Given the description of an element on the screen output the (x, y) to click on. 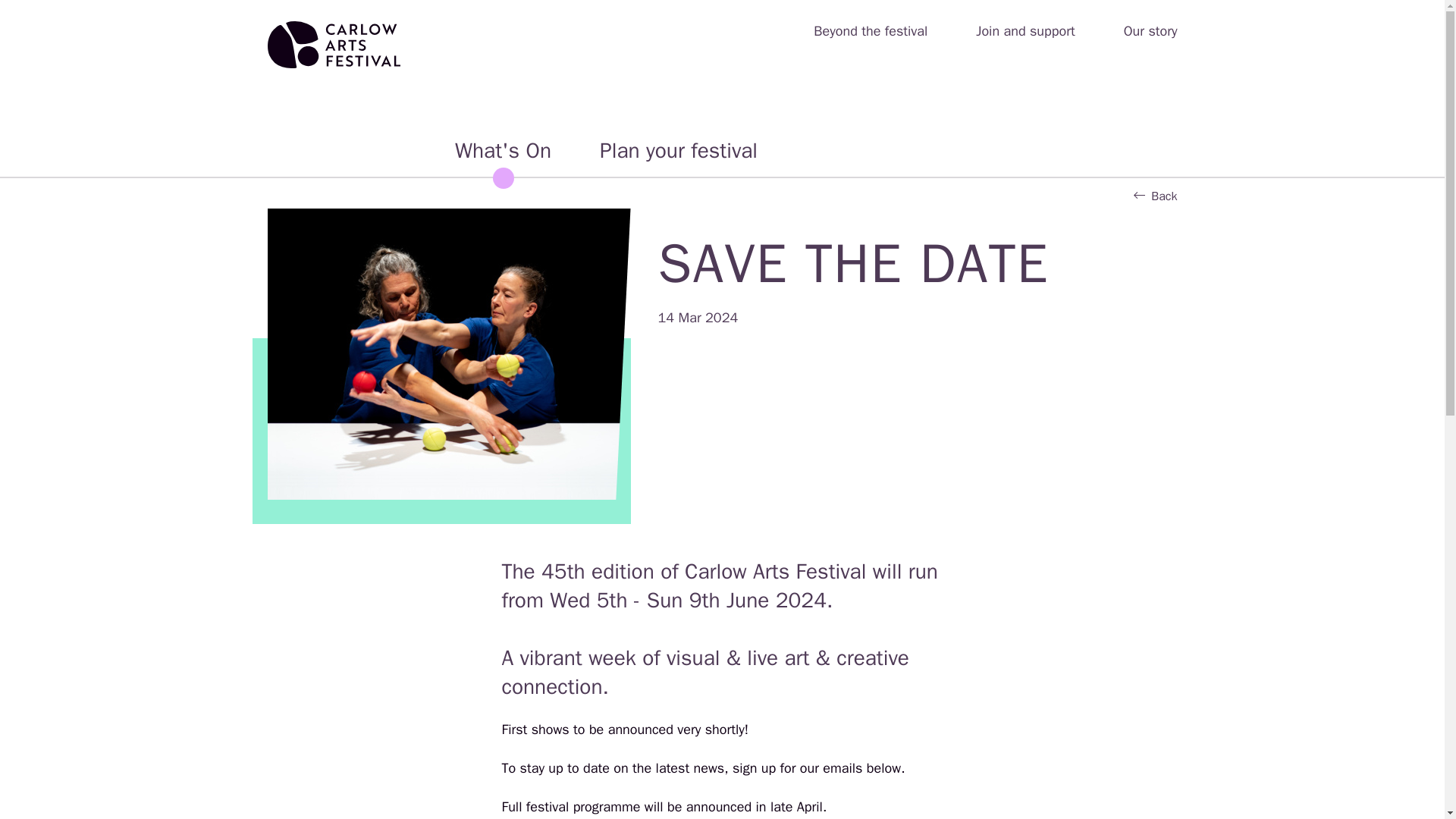
What's On (502, 150)
Beyond the festival (870, 31)
Join and support (1024, 31)
Plan your festival (678, 150)
Our story (1150, 31)
